Given the description of an element on the screen output the (x, y) to click on. 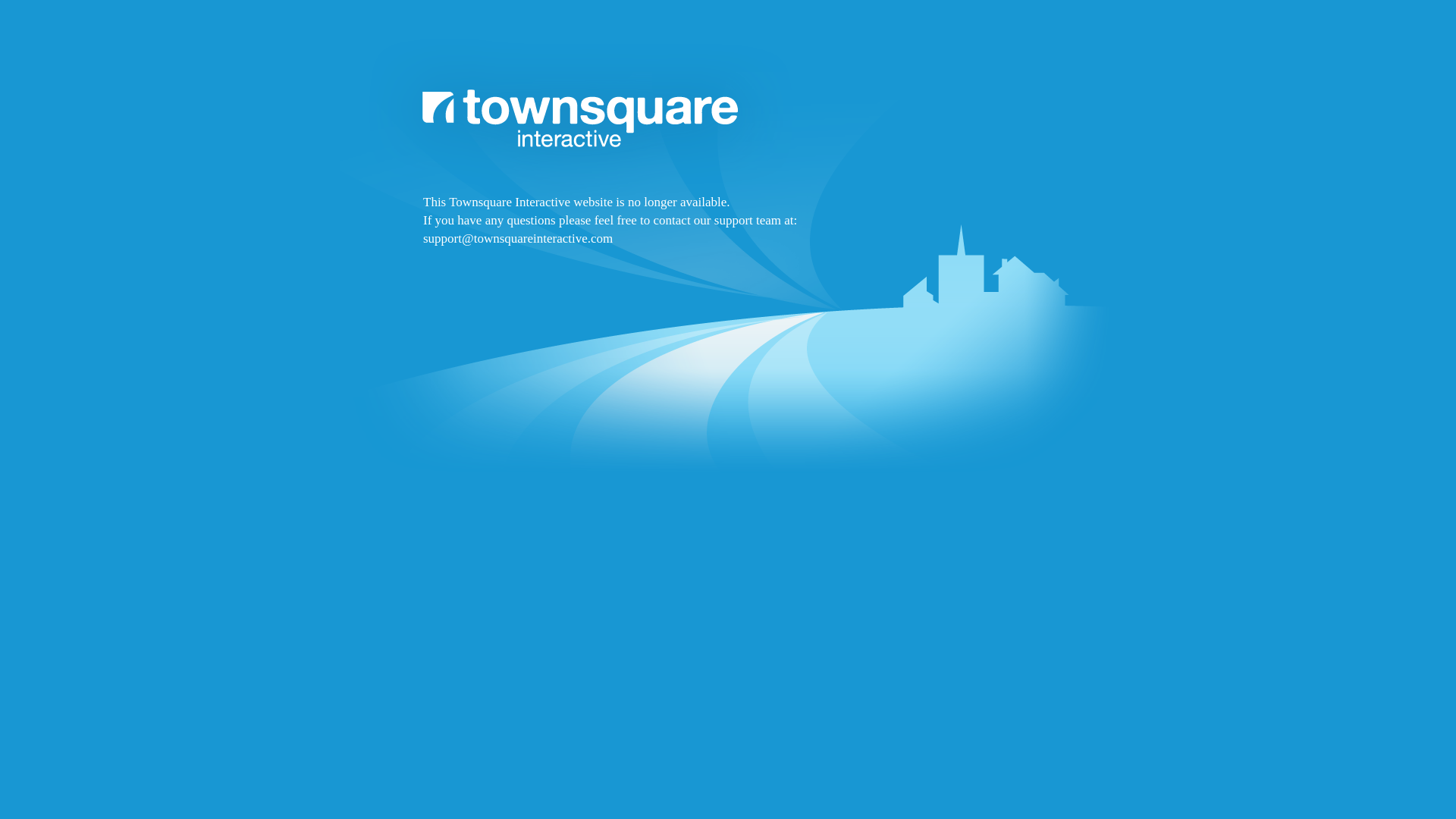
Townsquare Interactive Element type: hover (727, 297)
